Given the description of an element on the screen output the (x, y) to click on. 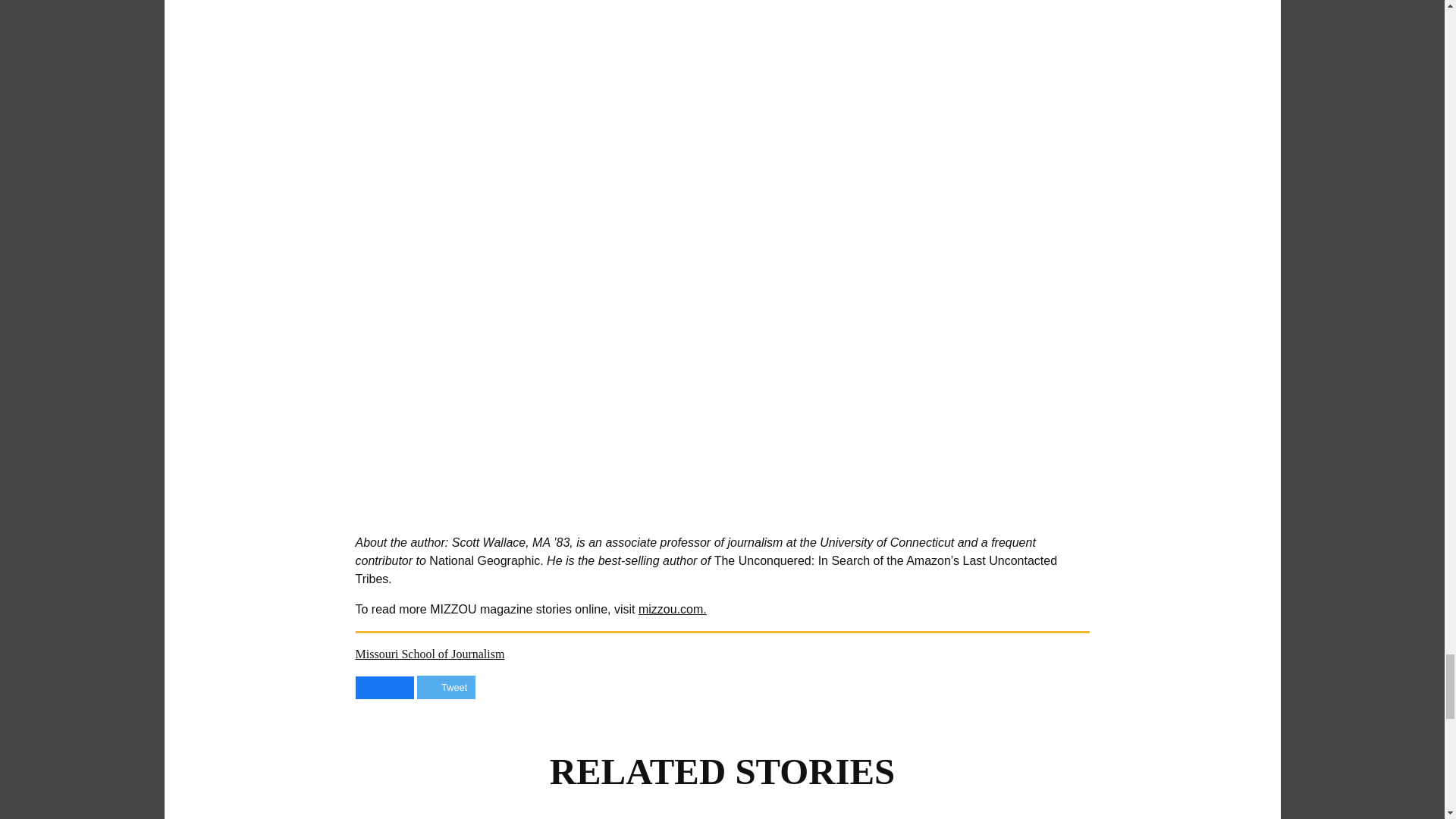
Twitter (432, 687)
